Given the description of an element on the screen output the (x, y) to click on. 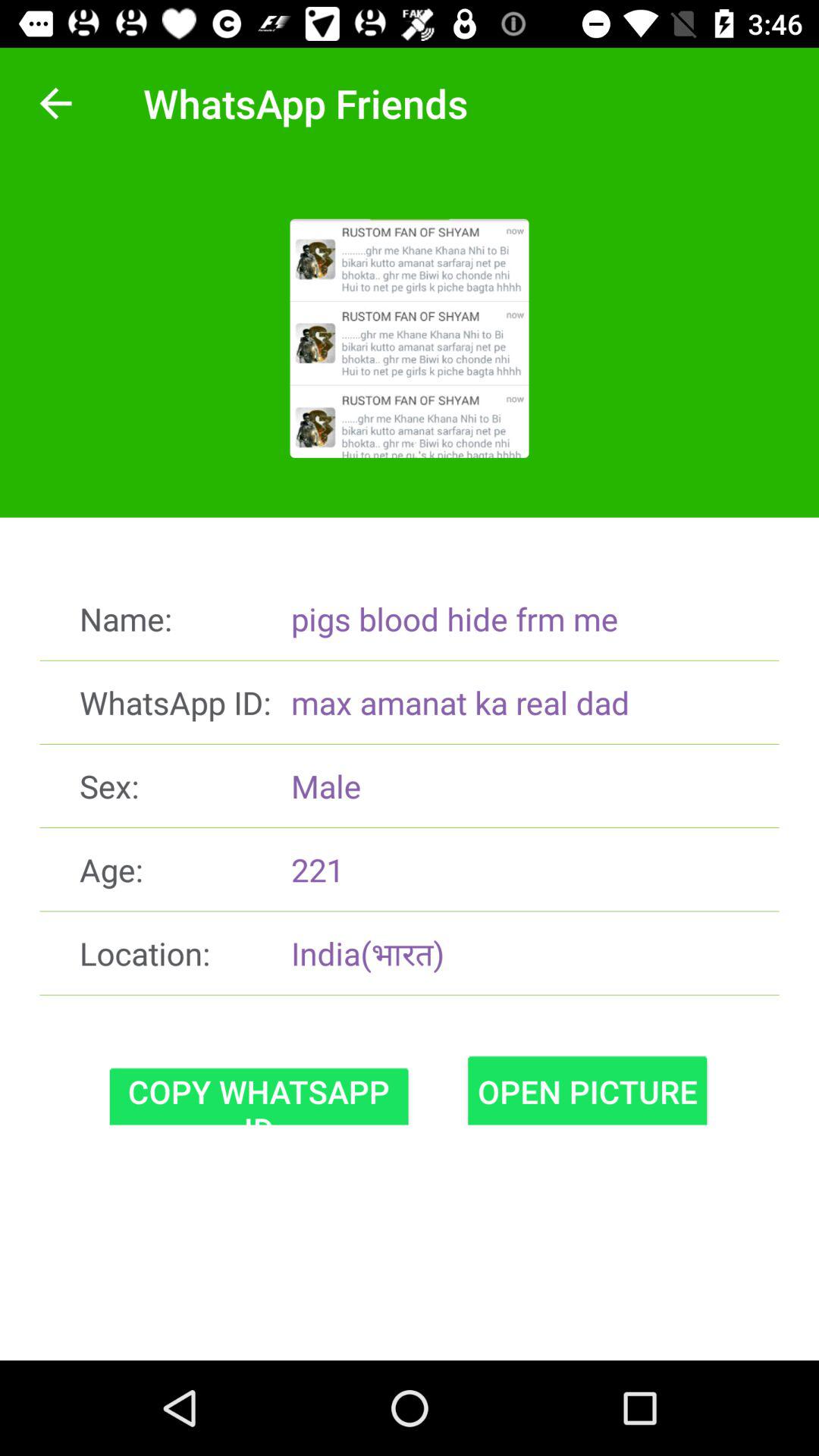
turn off icon above name: item (55, 103)
